Given the description of an element on the screen output the (x, y) to click on. 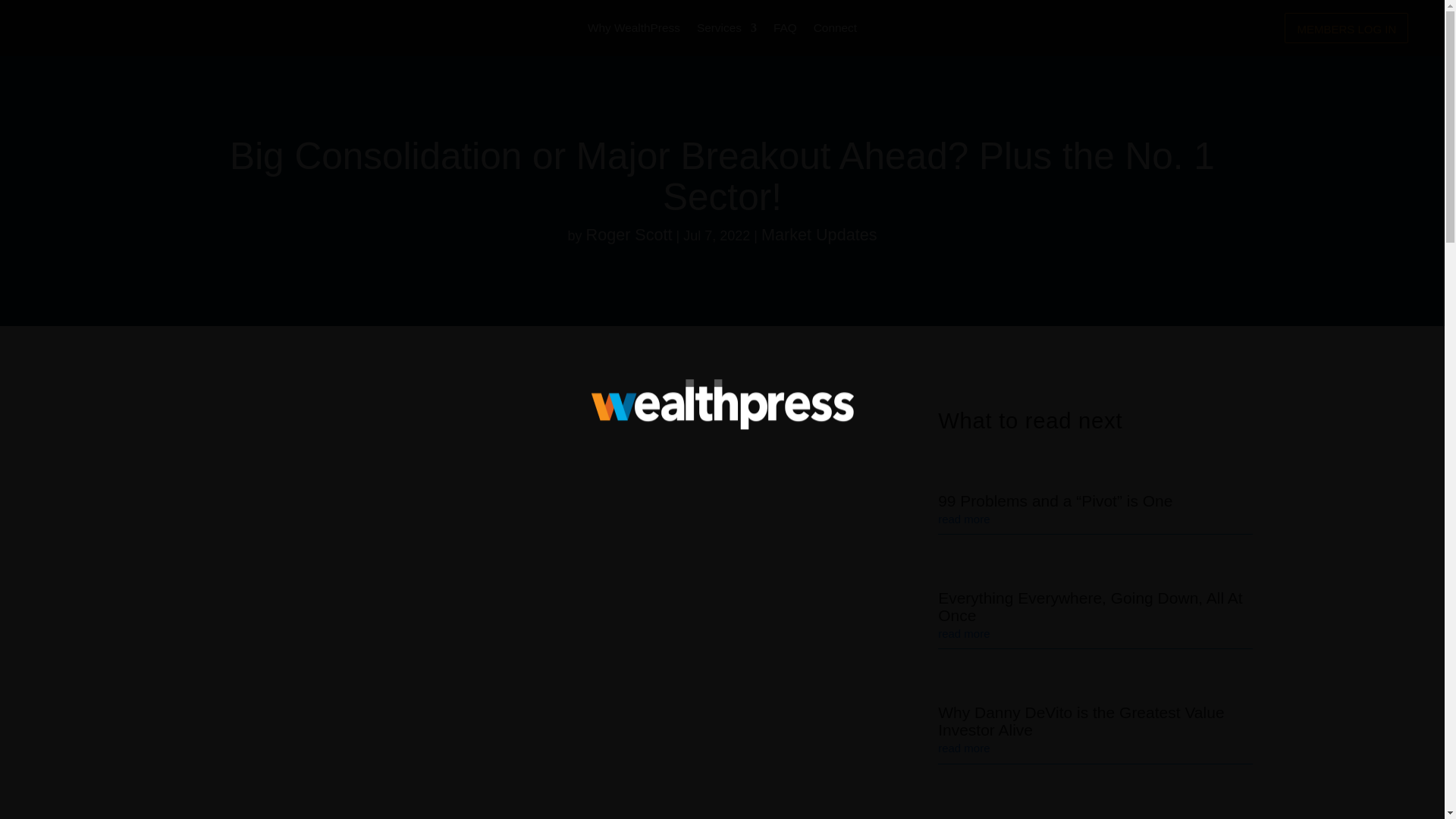
FAQ (784, 30)
Roger Scott (629, 234)
Why WealthPress (633, 30)
Market Updates (818, 234)
MEMBERS LOG IN (1345, 28)
Services (727, 30)
Posts by Roger Scott (629, 234)
Connect (835, 30)
